Given the description of an element on the screen output the (x, y) to click on. 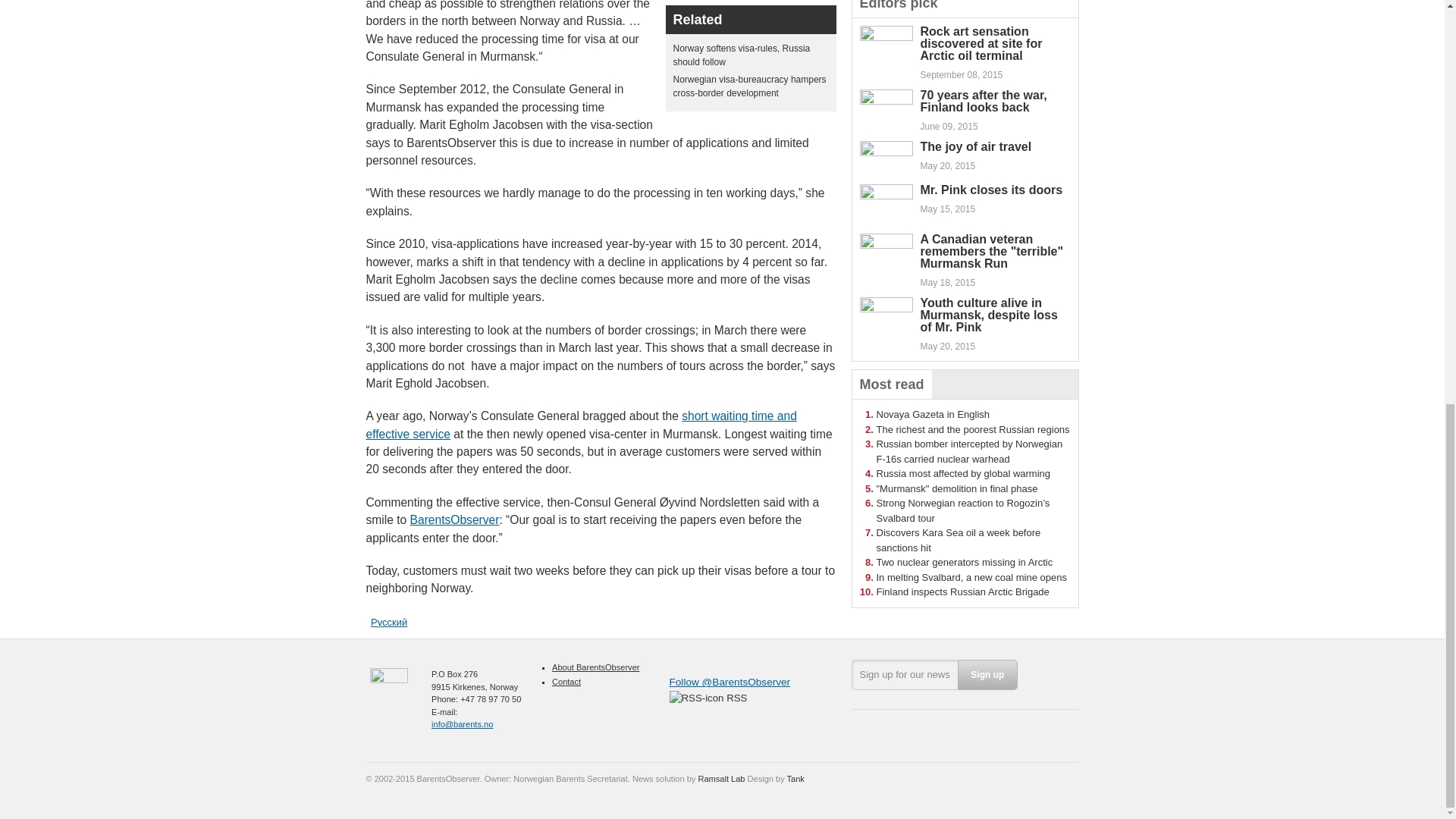
short waiting time and effective service (580, 424)
Norwegian visa-bureaucracy hampers cross-border development (749, 86)
Sign up (986, 675)
Norway softens visa-rules, Russia should follow (741, 55)
70 years after the war, Finland looks back (983, 100)
BarentsObserver (454, 519)
